Given the description of an element on the screen output the (x, y) to click on. 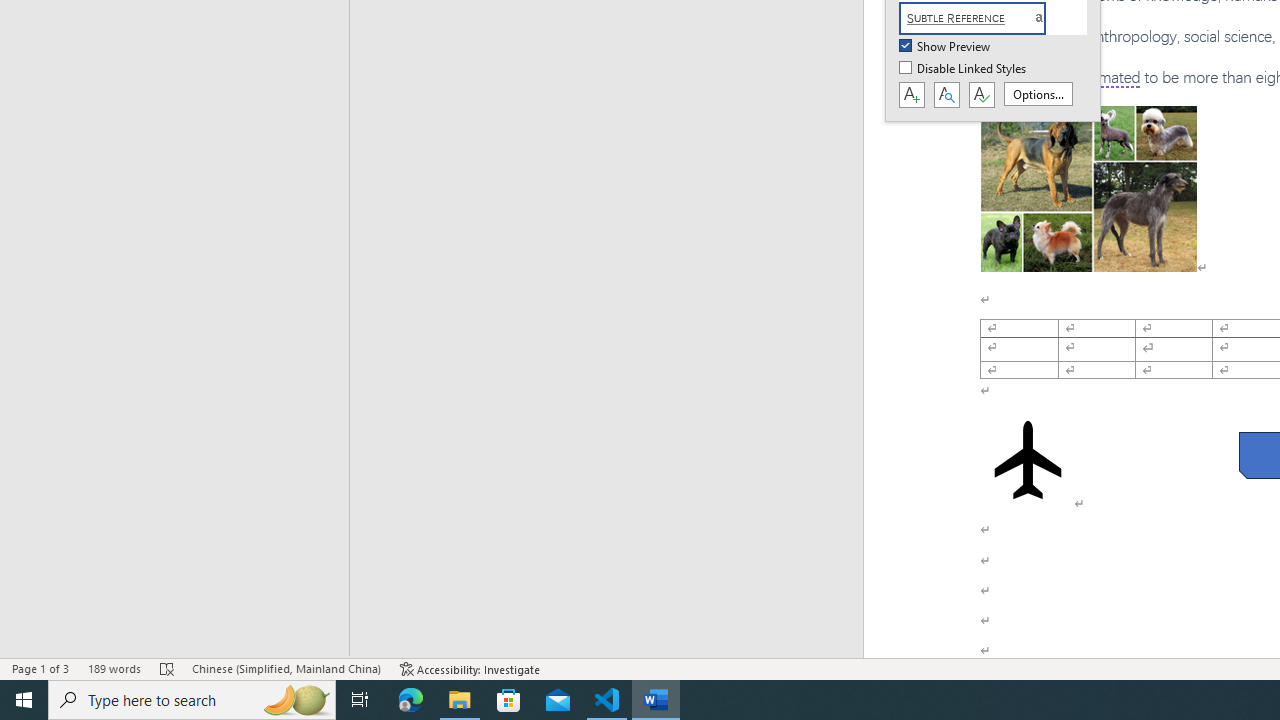
Page Number Page 1 of 3 (39, 668)
Language Chinese (Simplified, Mainland China) (286, 668)
Accessibility Checker Accessibility: Investigate (470, 668)
Spelling and Grammar Check Errors (168, 668)
Morphological variation in six dogs (1088, 188)
Show Preview (946, 47)
Subtle Reference (984, 18)
Airplane with solid fill (1027, 459)
Disable Linked Styles (964, 69)
Class: NetUIButton (981, 95)
Class: NetUIImage (971, 18)
Options... (1037, 93)
